Given the description of an element on the screen output the (x, y) to click on. 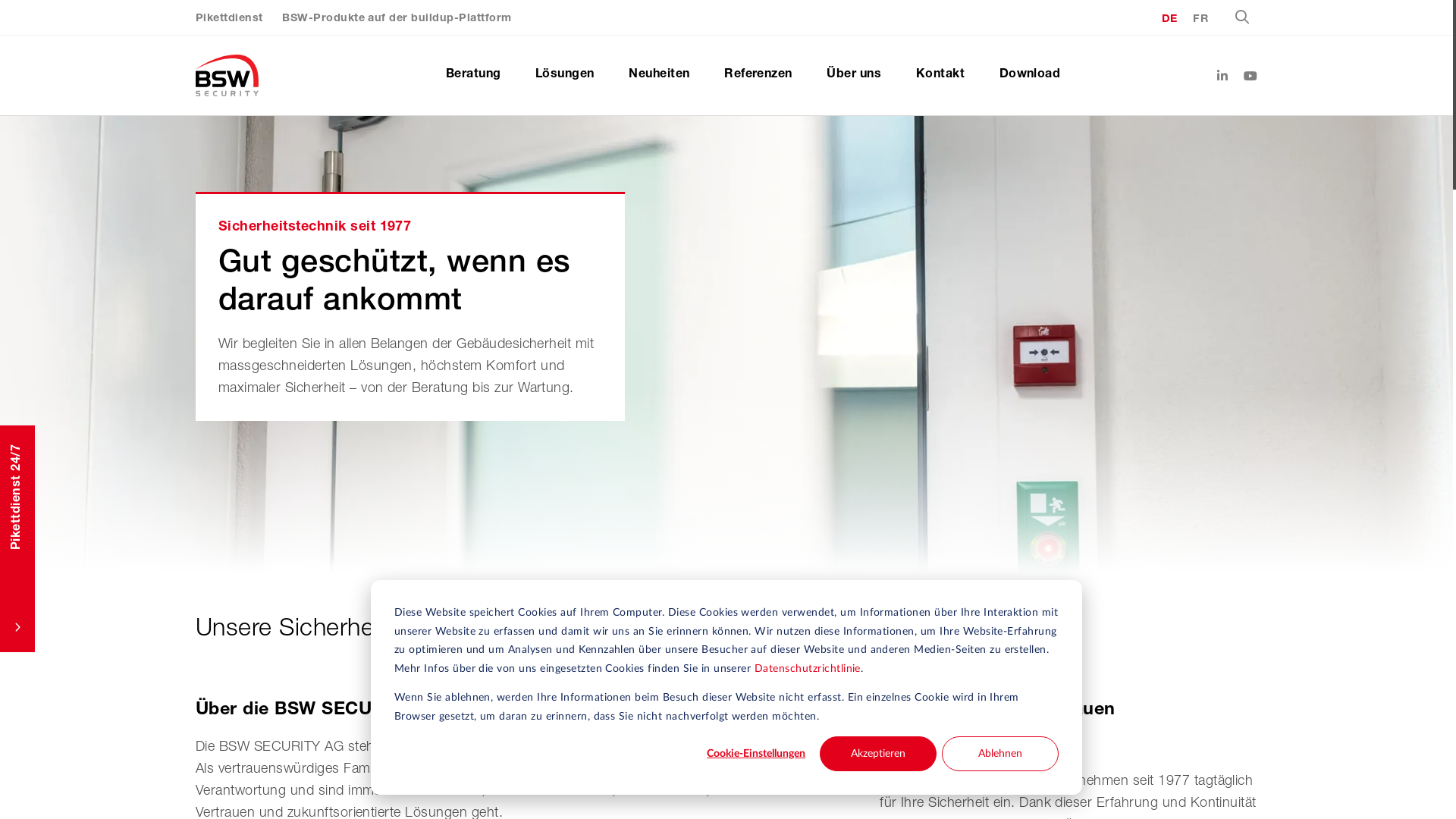
BSW-Produkte auf der buildup-Plattform Element type: text (396, 18)
Download Element type: text (1029, 75)
Pikettdienst Element type: text (229, 18)
Ablehnen Element type: text (999, 753)
Datenschutzrichtlinie Element type: text (807, 668)
Kontakt Element type: text (940, 75)
Beratung Element type: text (473, 75)
Akzeptieren Element type: text (877, 753)
Neuheiten Element type: text (658, 75)
Cookie-Einstellungen Element type: text (755, 753)
Referenzen Element type: text (758, 75)
